Given the description of an element on the screen output the (x, y) to click on. 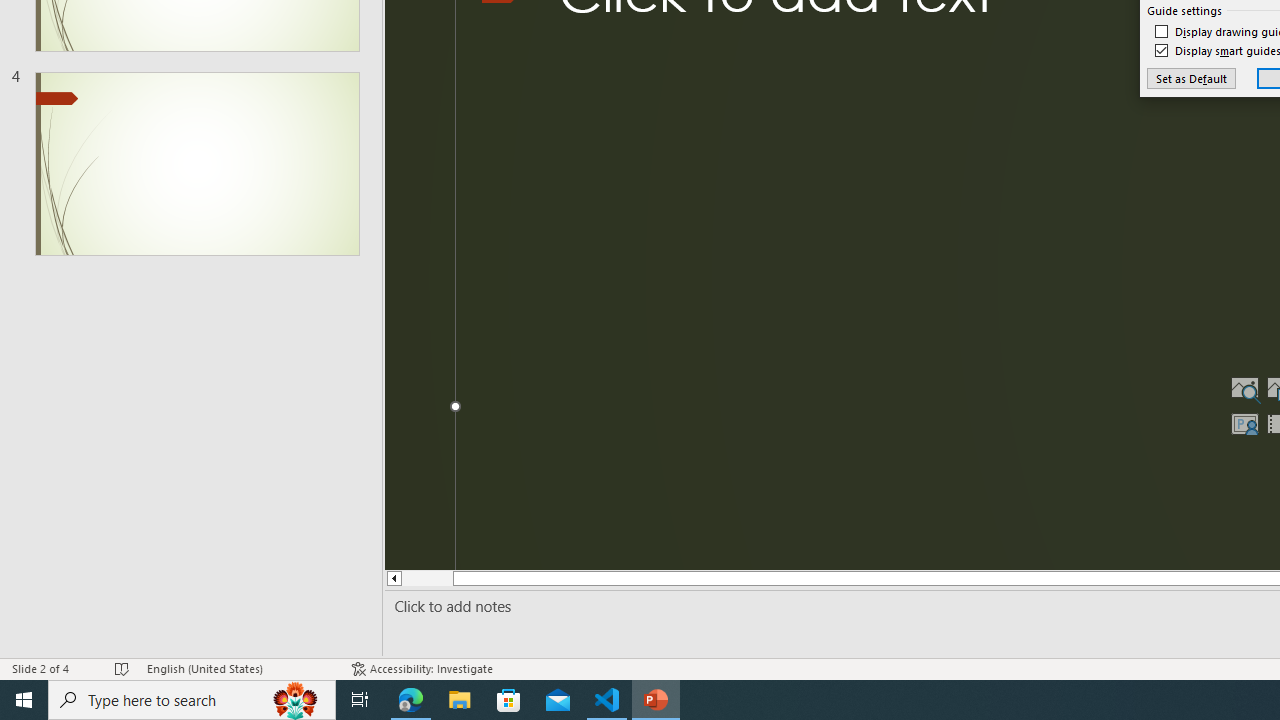
Set as Default (1190, 78)
Stock Images (1244, 387)
Microsoft Edge - 1 running window (411, 699)
Insert Cameo (1244, 423)
